Given the description of an element on the screen output the (x, y) to click on. 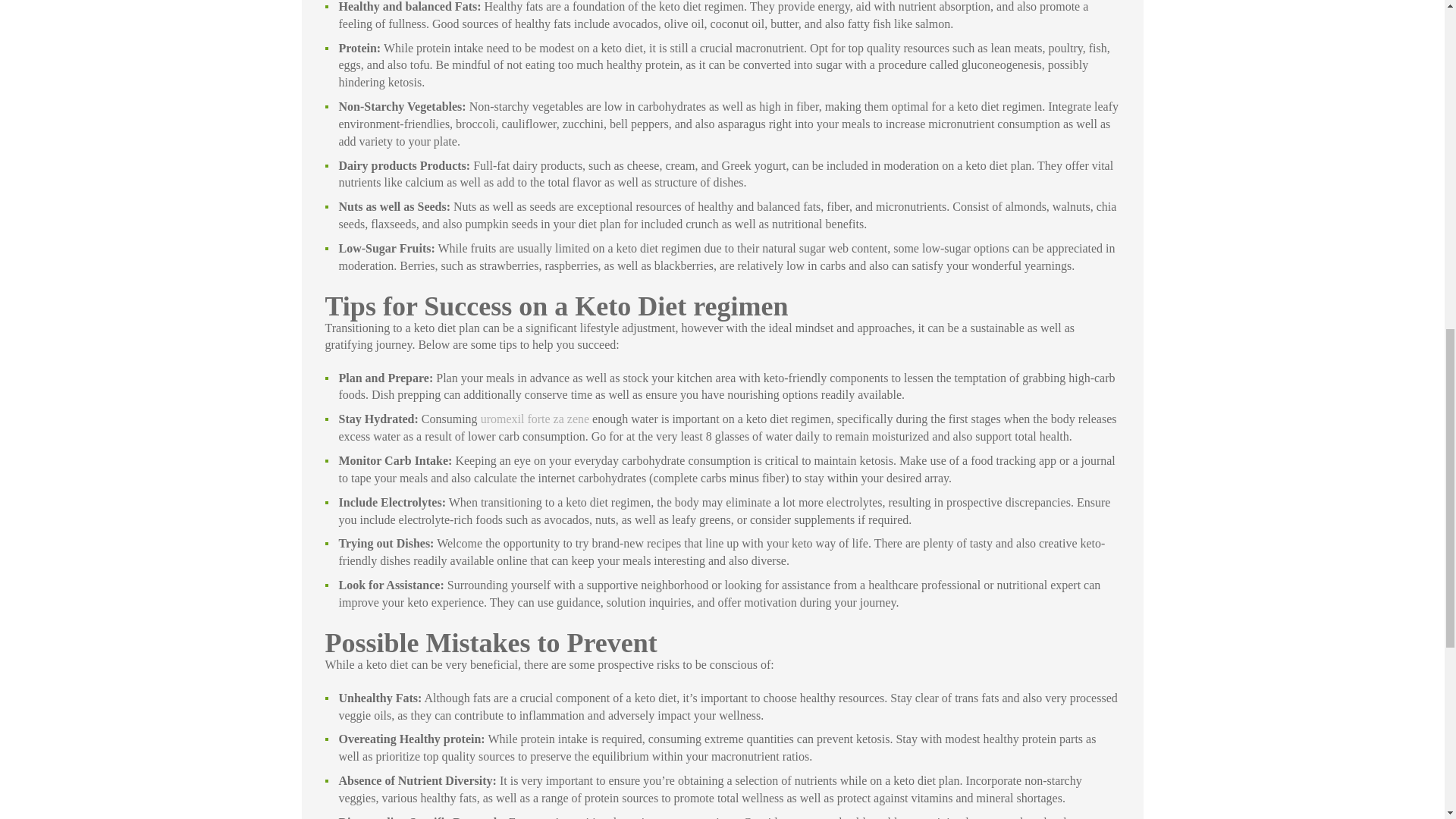
uromexil forte za zene (534, 418)
